Given the description of an element on the screen output the (x, y) to click on. 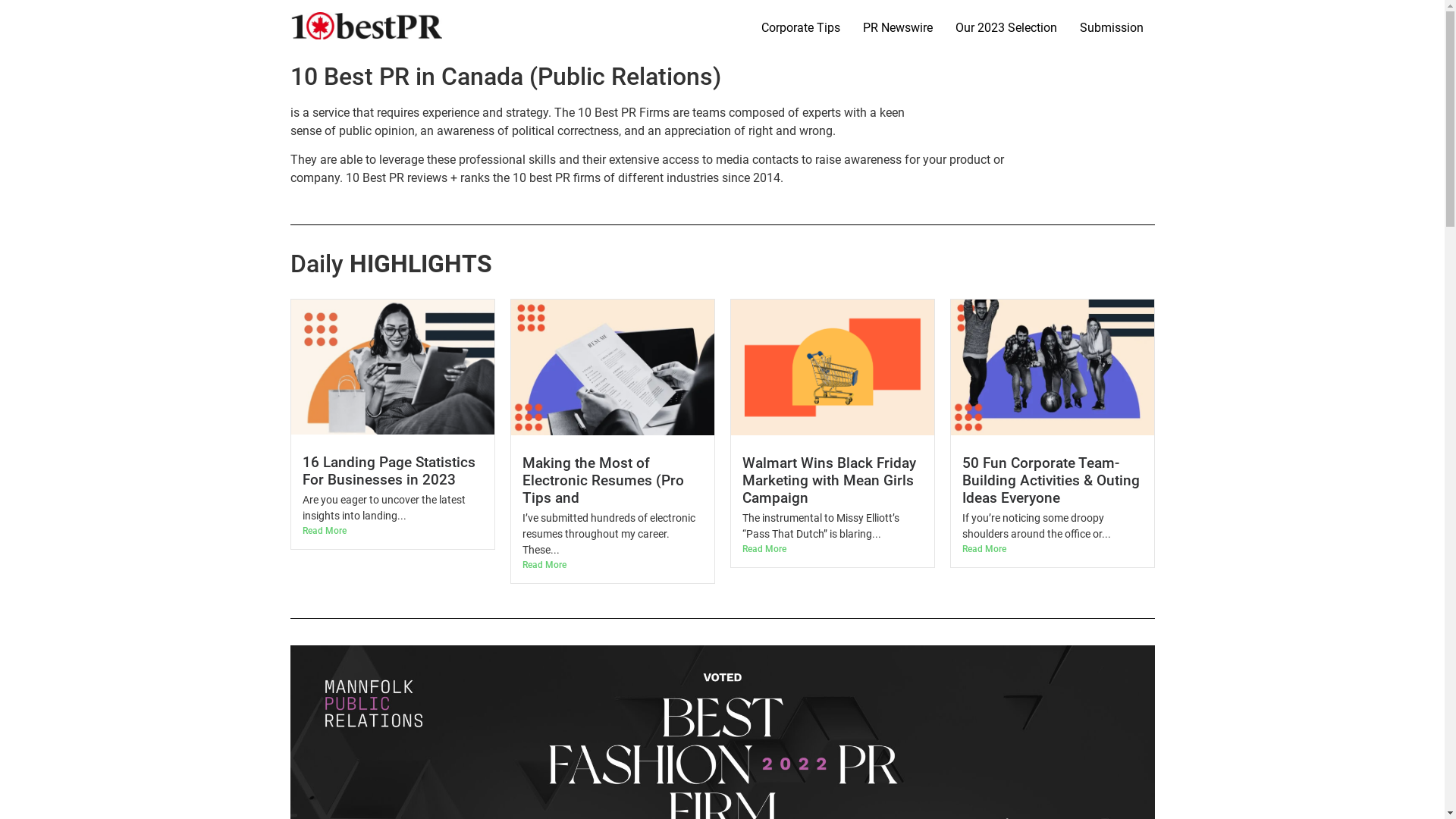
Read More Element type: text (611, 564)
Our 2023 Selection Element type: text (1005, 27)
PR Newswire Element type: text (896, 27)
Submission Element type: text (1110, 27)
Corporate Tips Element type: text (722, 80)
Making the Most of Electronic Resumes (Pro Tips and Element type: text (602, 480)
Walmart Wins Black Friday Marketing with Mean Girls Campaign Element type: text (828, 480)
Read More Element type: text (1051, 548)
Read More Element type: text (831, 548)
16 Landing Page Statistics For Businesses in 2023 Element type: text (387, 470)
Read More Element type: text (391, 530)
Corporate Tips Element type: text (799, 27)
